Given the description of an element on the screen output the (x, y) to click on. 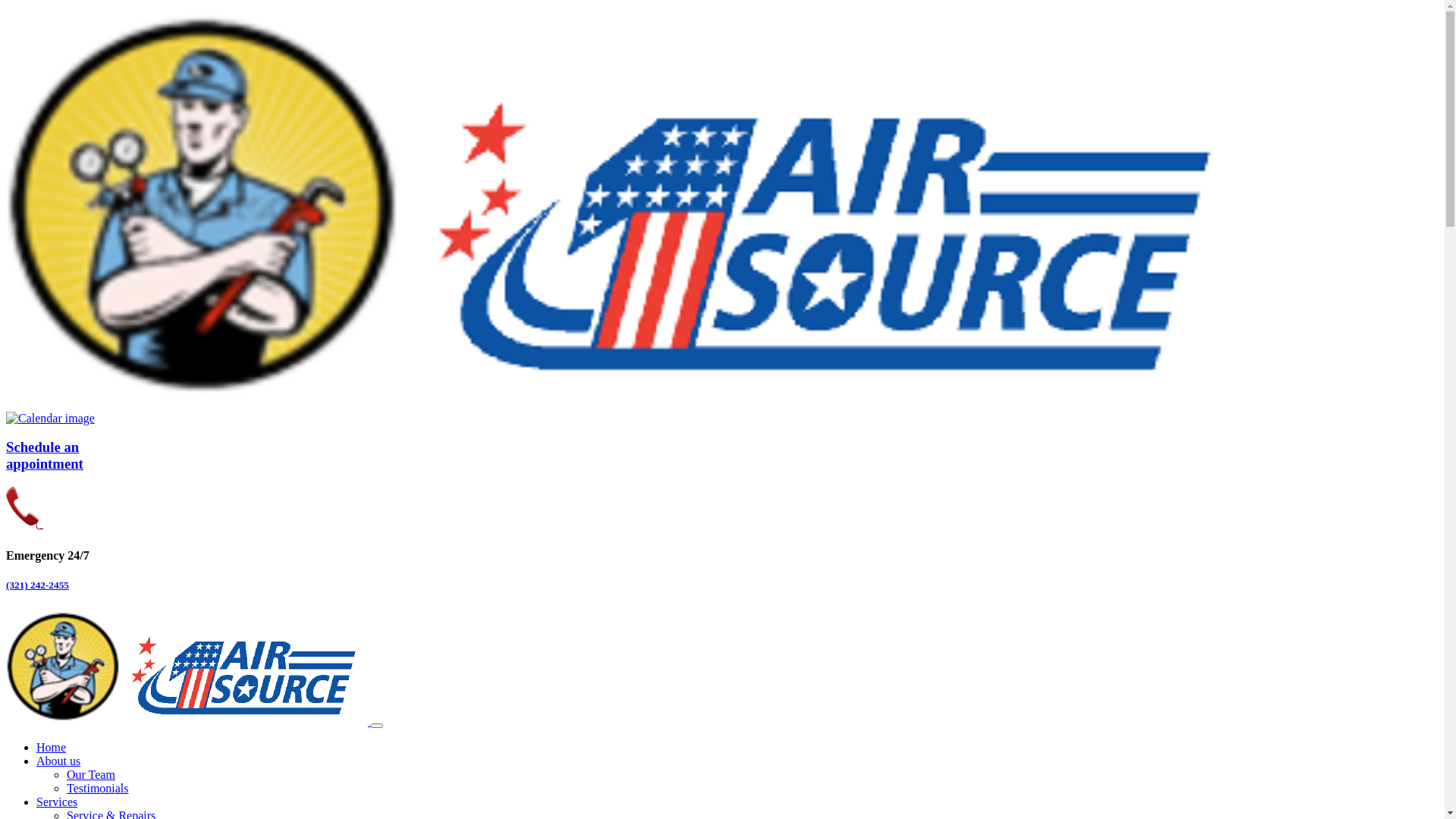
Air Conditioning Experts Element type: hover (188, 721)
Air Conditioning Experts Element type: hover (629, 404)
(321) 242-2455 Element type: text (722, 585)
About us Element type: text (58, 760)
Home Element type: text (50, 746)
Services Element type: text (56, 801)
Schedule an
appointment Element type: text (722, 455)
Our Team Element type: text (90, 774)
Testimonials Element type: text (97, 787)
